Given the description of an element on the screen output the (x, y) to click on. 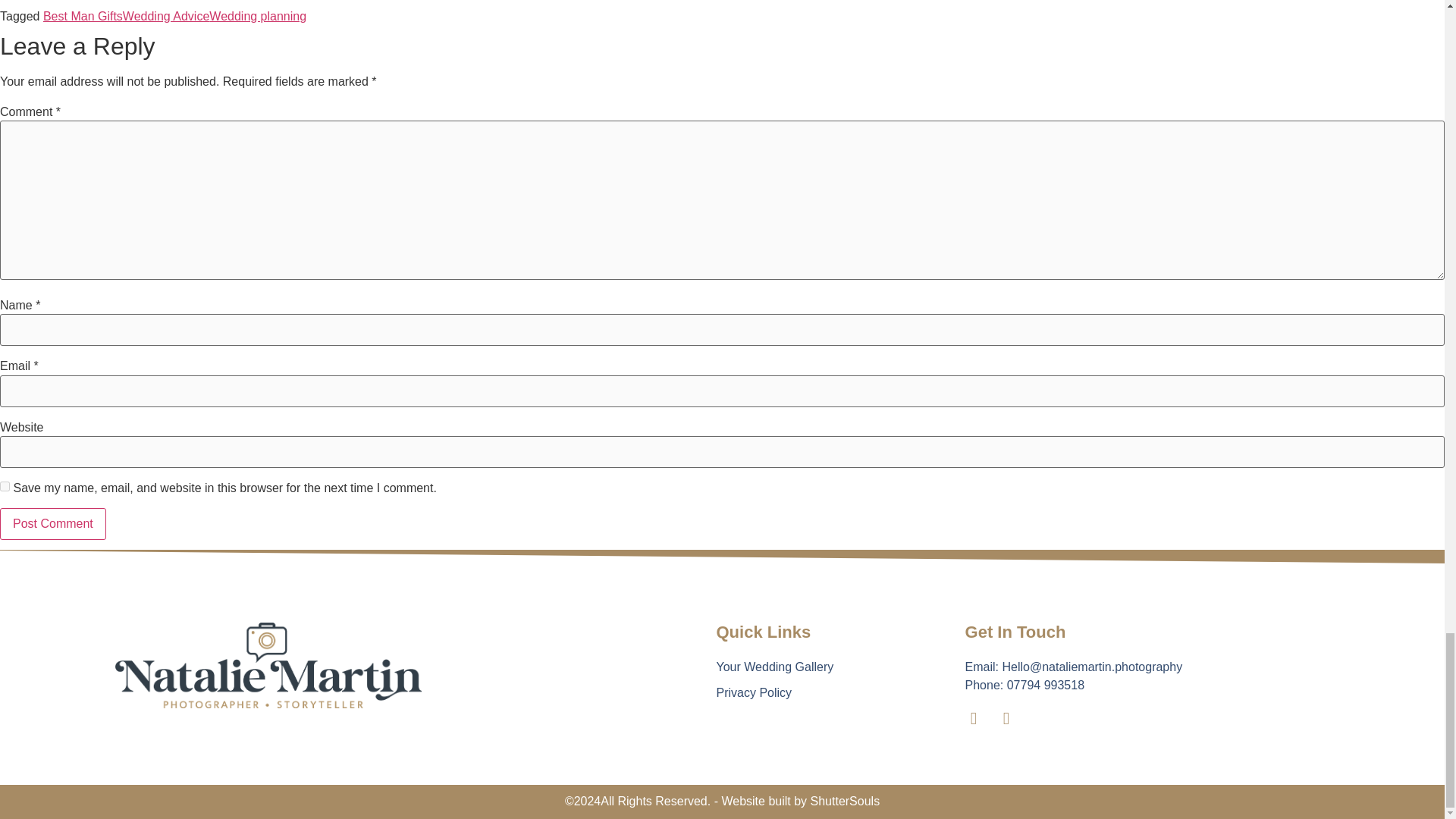
Post Comment (53, 523)
Post Comment (53, 523)
Best Man Gifts (82, 15)
yes (5, 486)
Wedding planning (257, 15)
Your Wedding Gallery (818, 667)
Wedding Advice (165, 15)
Privacy Policy (818, 692)
